Given the description of an element on the screen output the (x, y) to click on. 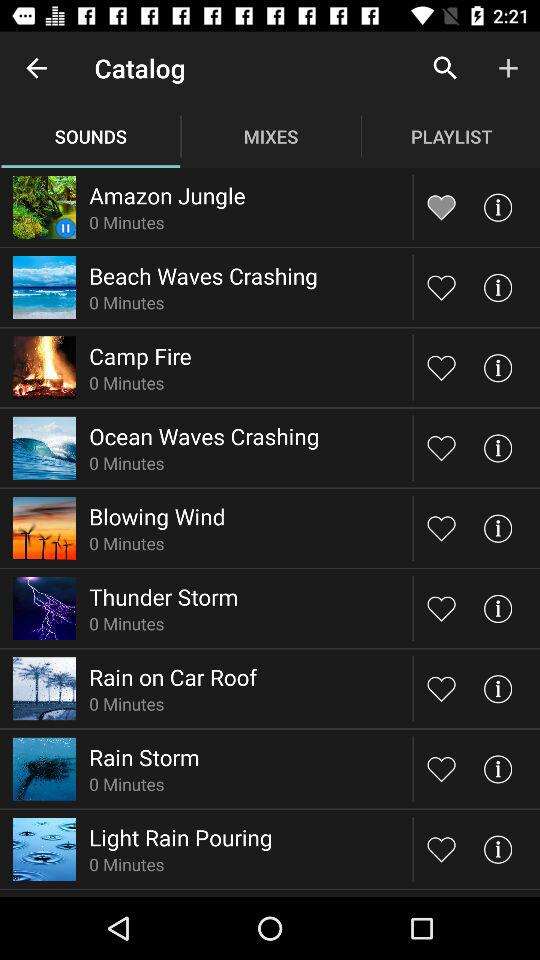
press this heart if you love it (441, 287)
